Given the description of an element on the screen output the (x, y) to click on. 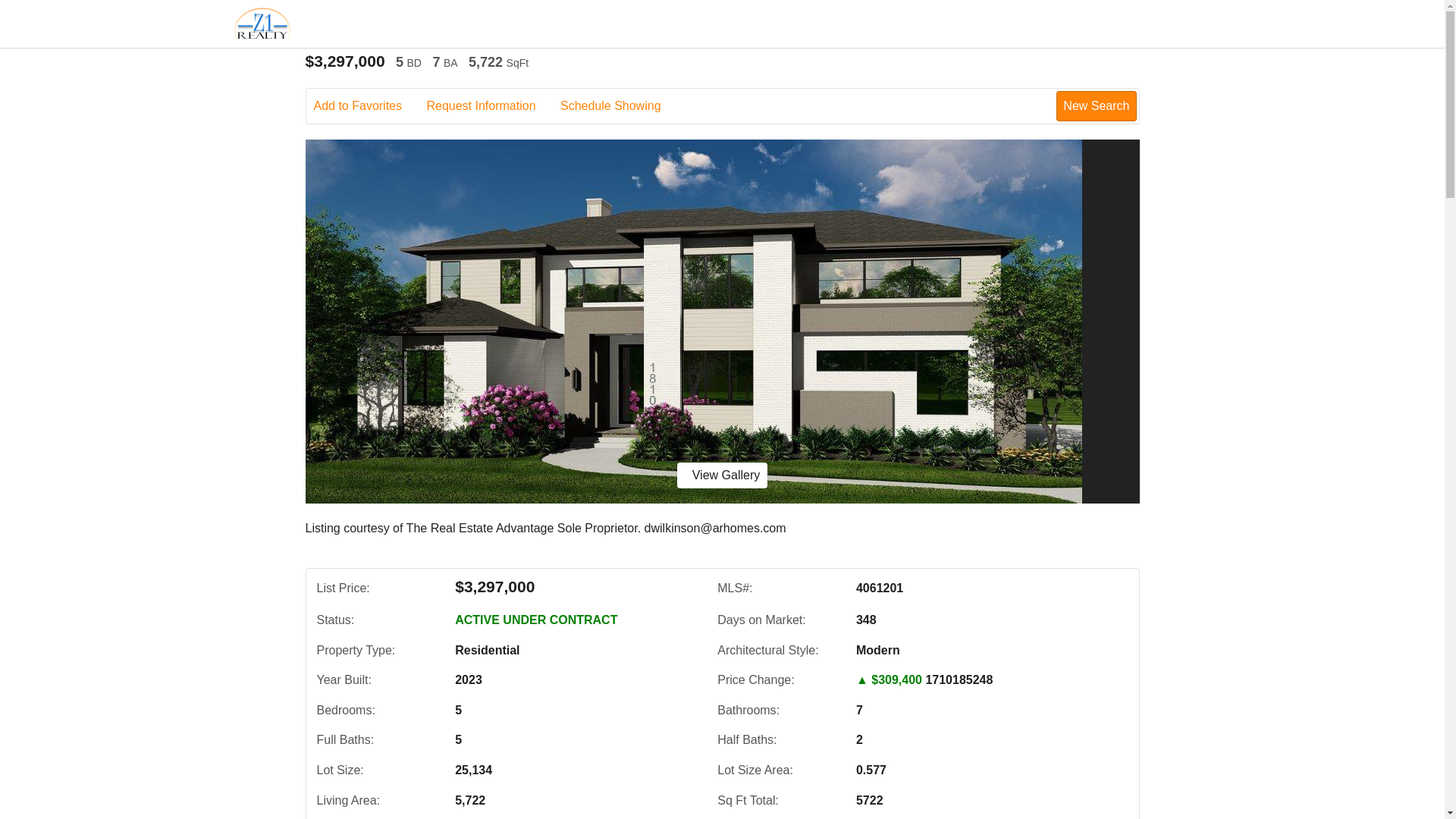
Schedule Showing (621, 106)
Add to Favorites (368, 106)
Request Information (491, 106)
View Gallery (722, 475)
New Search (1096, 105)
View Gallery (722, 474)
